Given the description of an element on the screen output the (x, y) to click on. 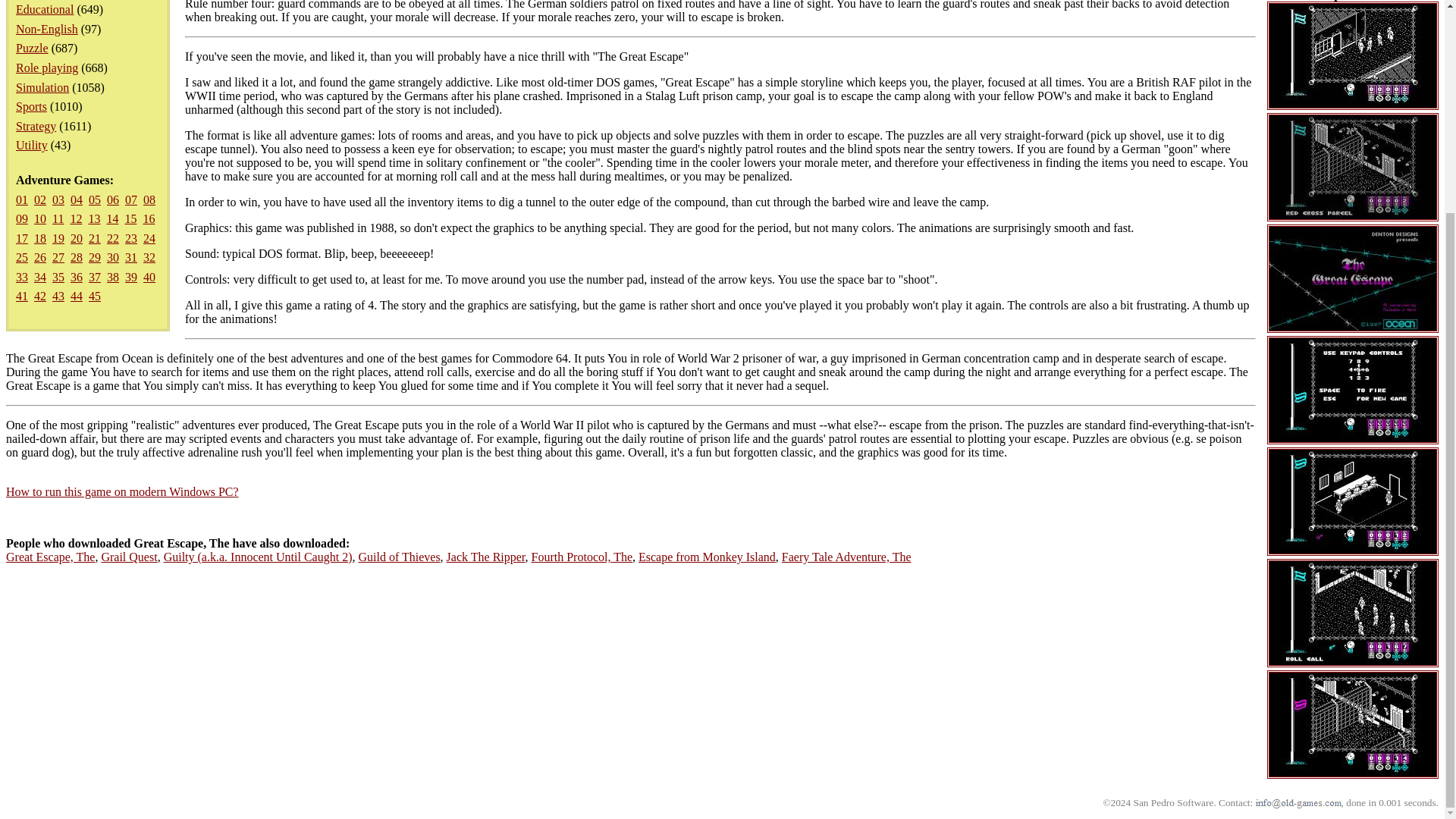
18 (39, 237)
16 (148, 218)
10 (39, 218)
07 (130, 199)
Non-English (47, 29)
02 (39, 199)
19 (58, 237)
12 (75, 218)
22 (112, 237)
24 (148, 237)
17 (21, 237)
Simulation (42, 87)
09 (21, 218)
01 (21, 199)
25 (21, 256)
